Given the description of an element on the screen output the (x, y) to click on. 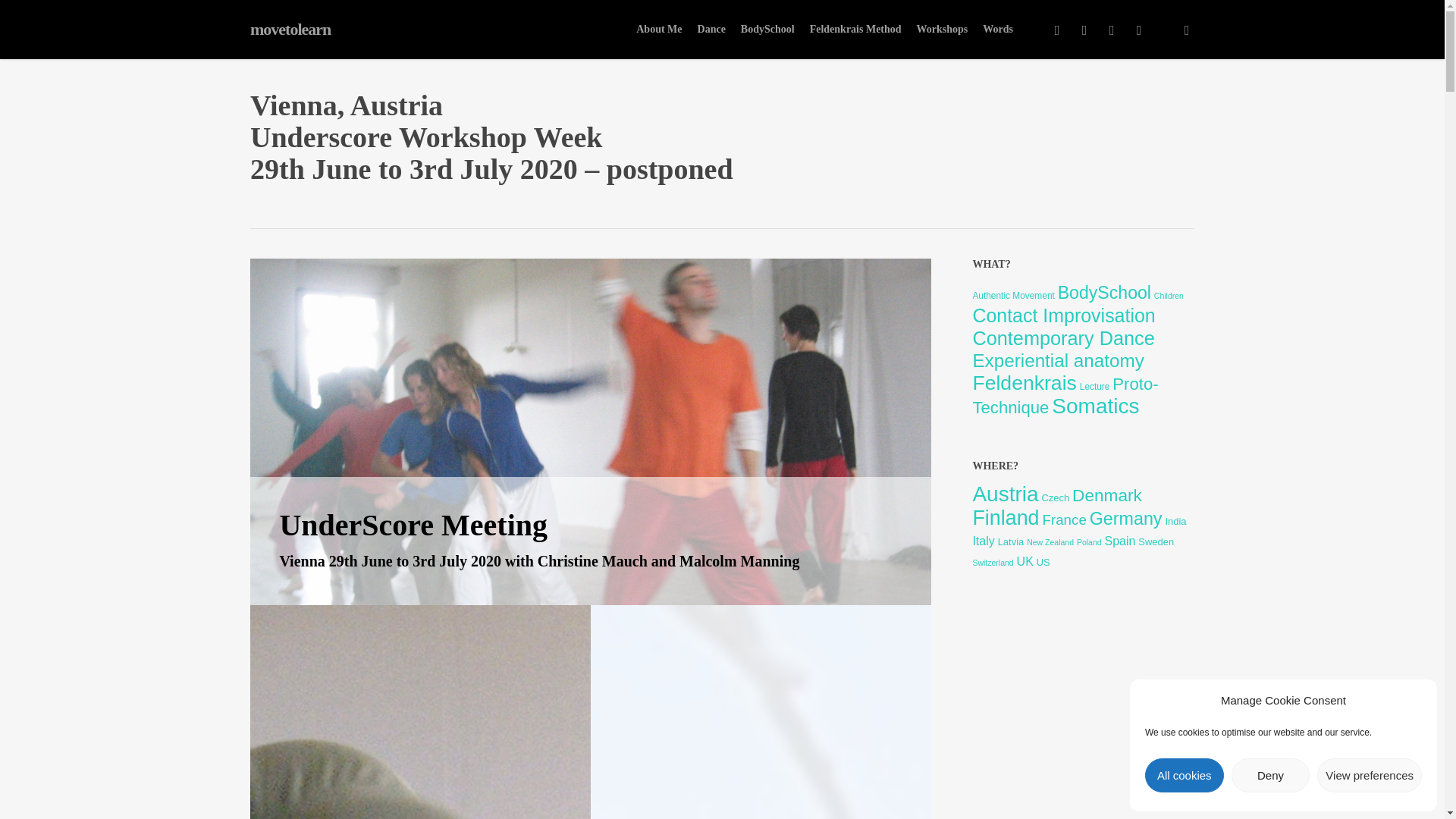
movetolearn (290, 29)
Dance (711, 29)
About Me (658, 29)
View preferences (1369, 775)
All cookies (1184, 775)
Deny (1270, 775)
